Given the description of an element on the screen output the (x, y) to click on. 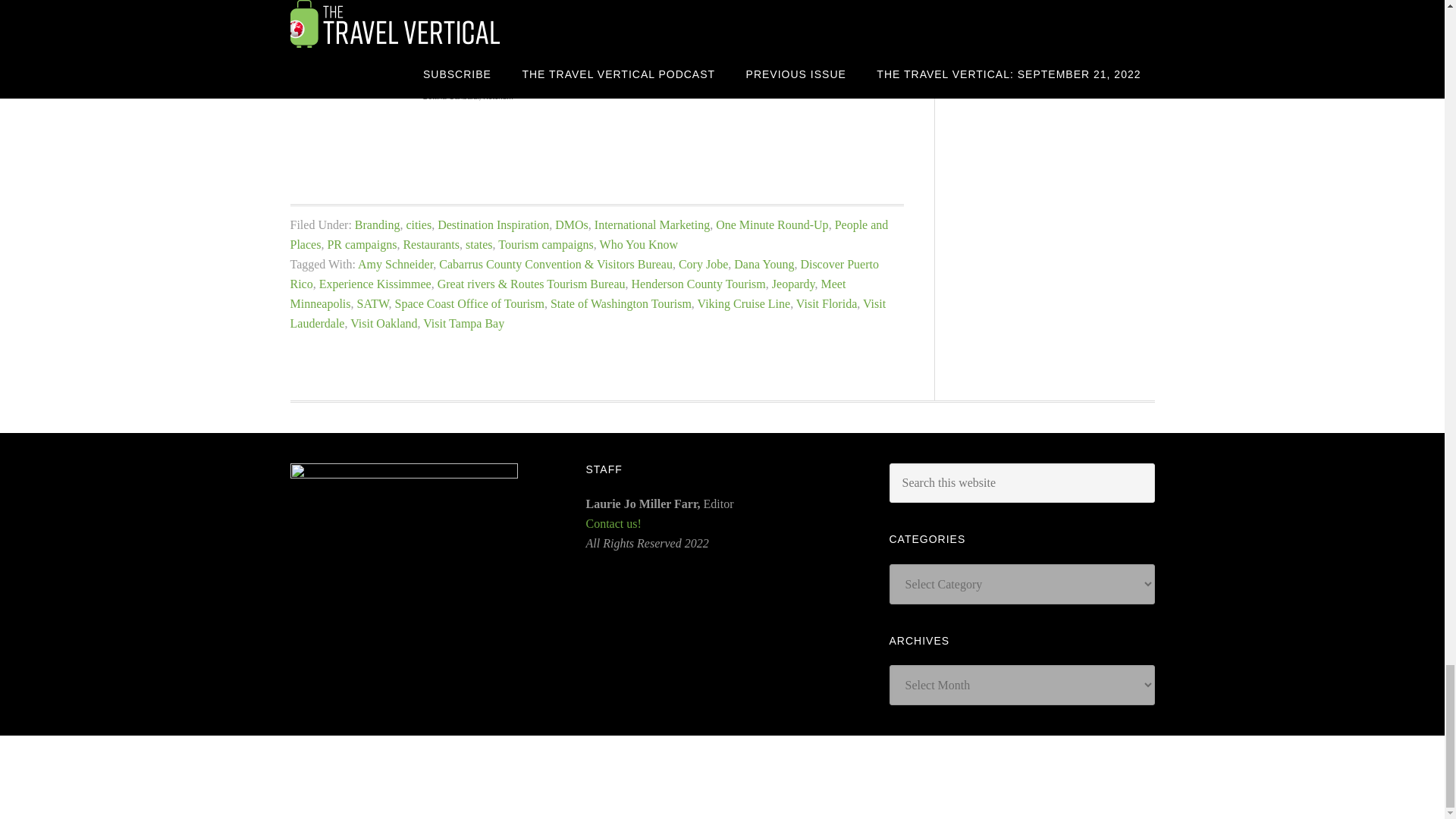
Tourism campaigns (545, 244)
Cory Jobe (703, 264)
PR campaigns (361, 244)
Dana Young (763, 264)
DMOs (571, 224)
International Marketing (652, 224)
Who You Know (638, 244)
states (479, 244)
Discover Puerto Rico (583, 273)
People and Places (588, 234)
Amy Schneider (395, 264)
Experience Kissimmee (374, 283)
Branding (377, 224)
